Given the description of an element on the screen output the (x, y) to click on. 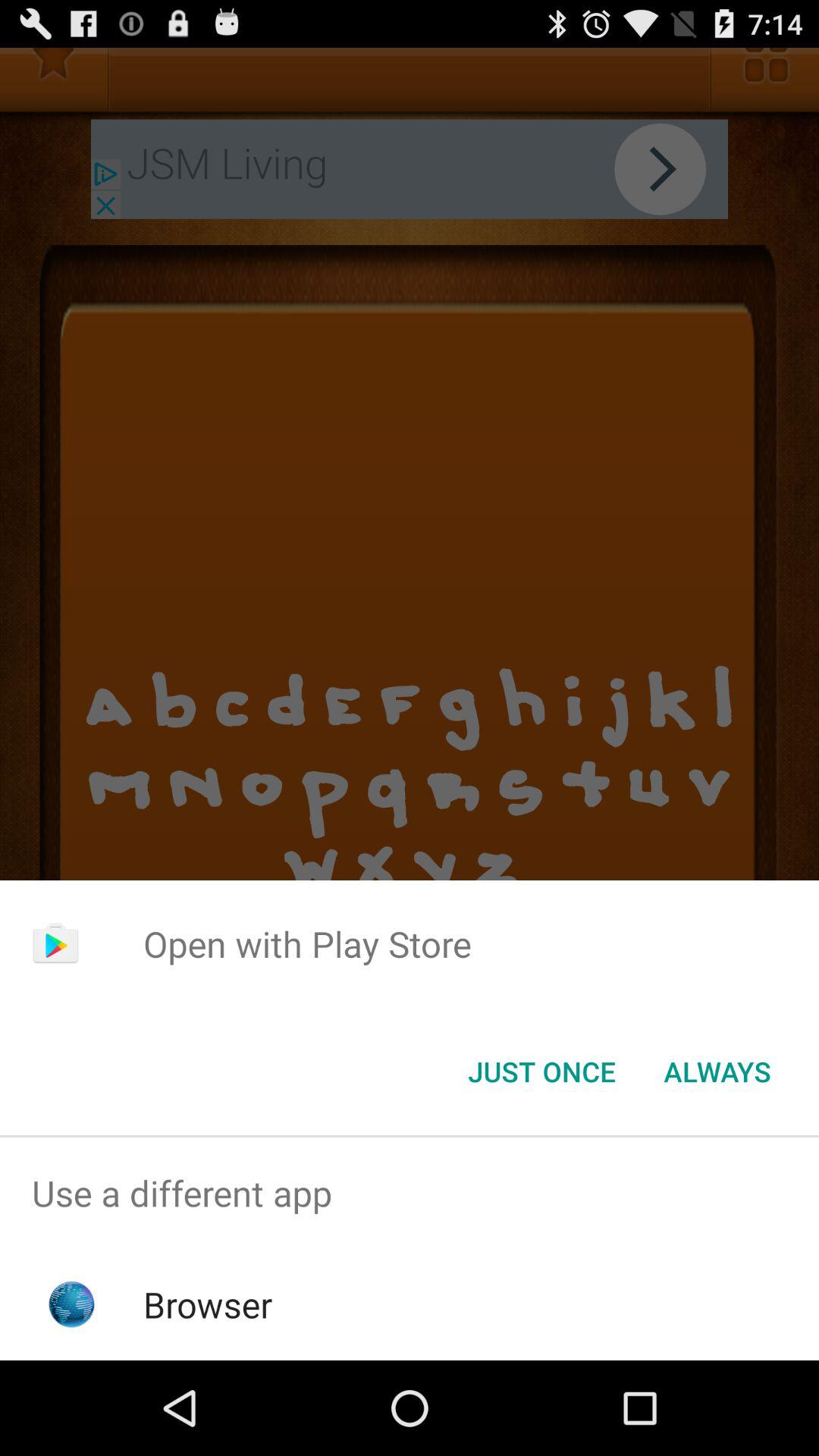
open icon to the left of the always icon (541, 1071)
